Given the description of an element on the screen output the (x, y) to click on. 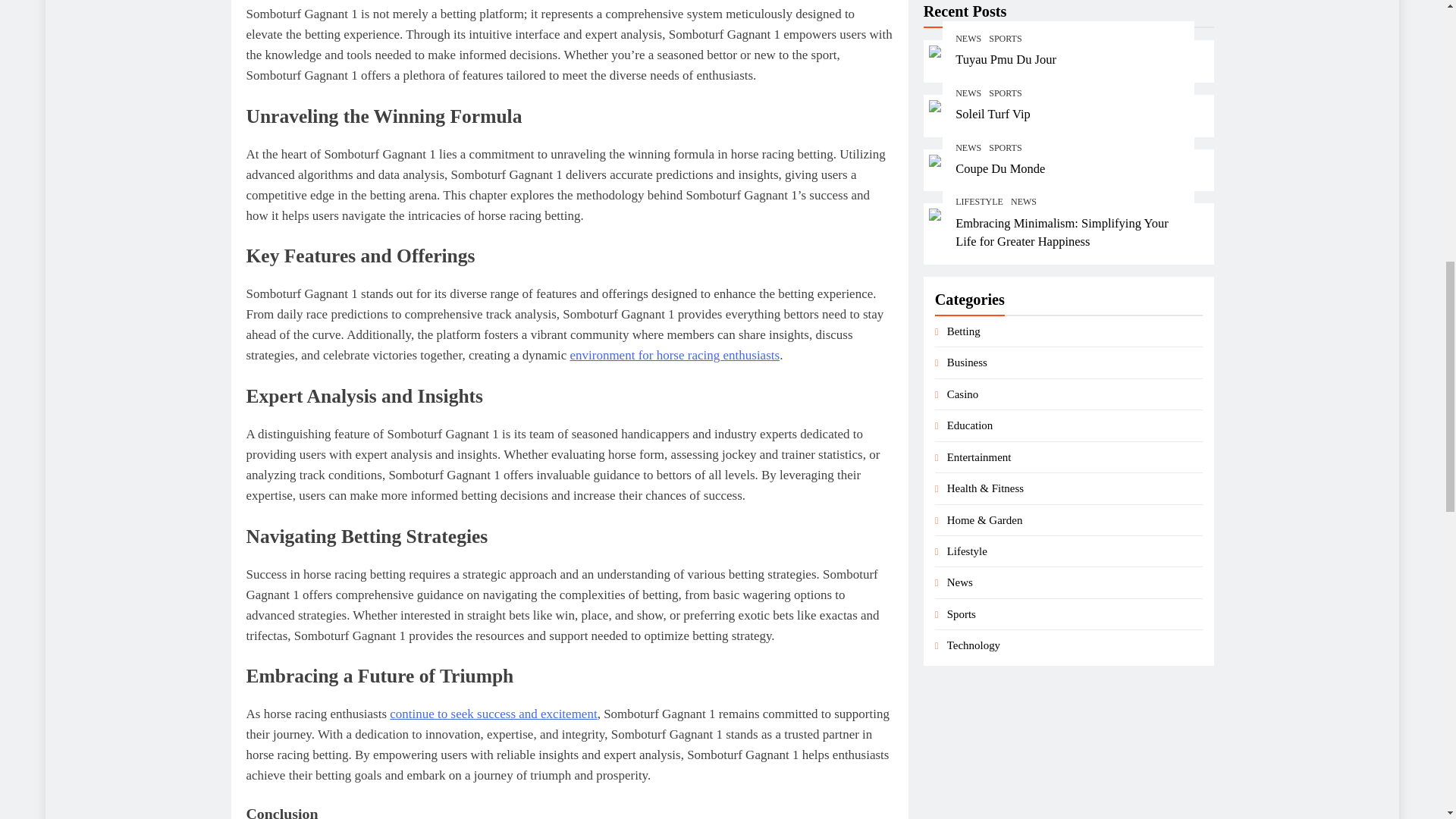
environment for horse racing enthusiasts (673, 355)
continue to seek success and excitement (493, 713)
